Given the description of an element on the screen output the (x, y) to click on. 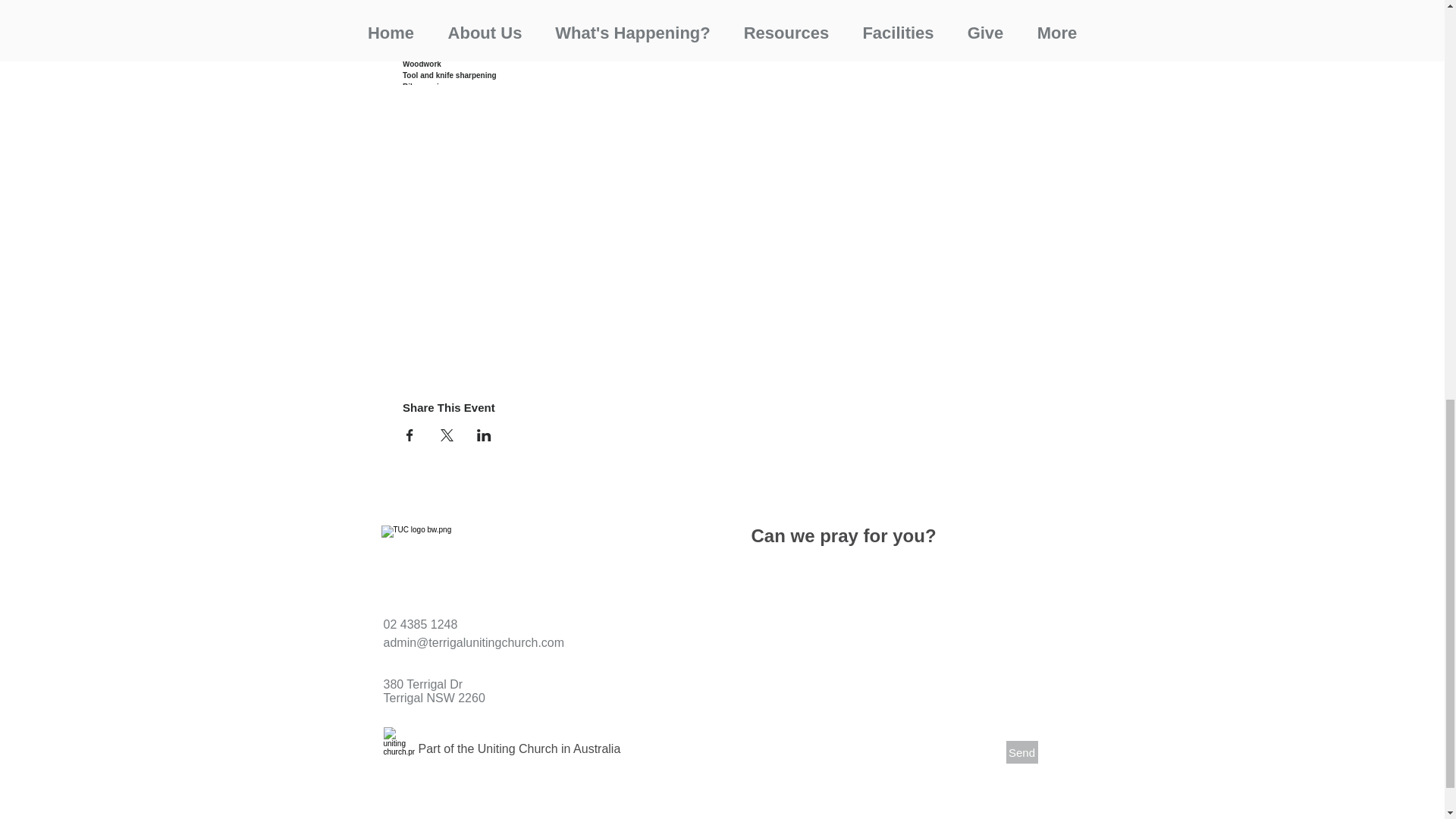
Send (1021, 752)
